Given the description of an element on the screen output the (x, y) to click on. 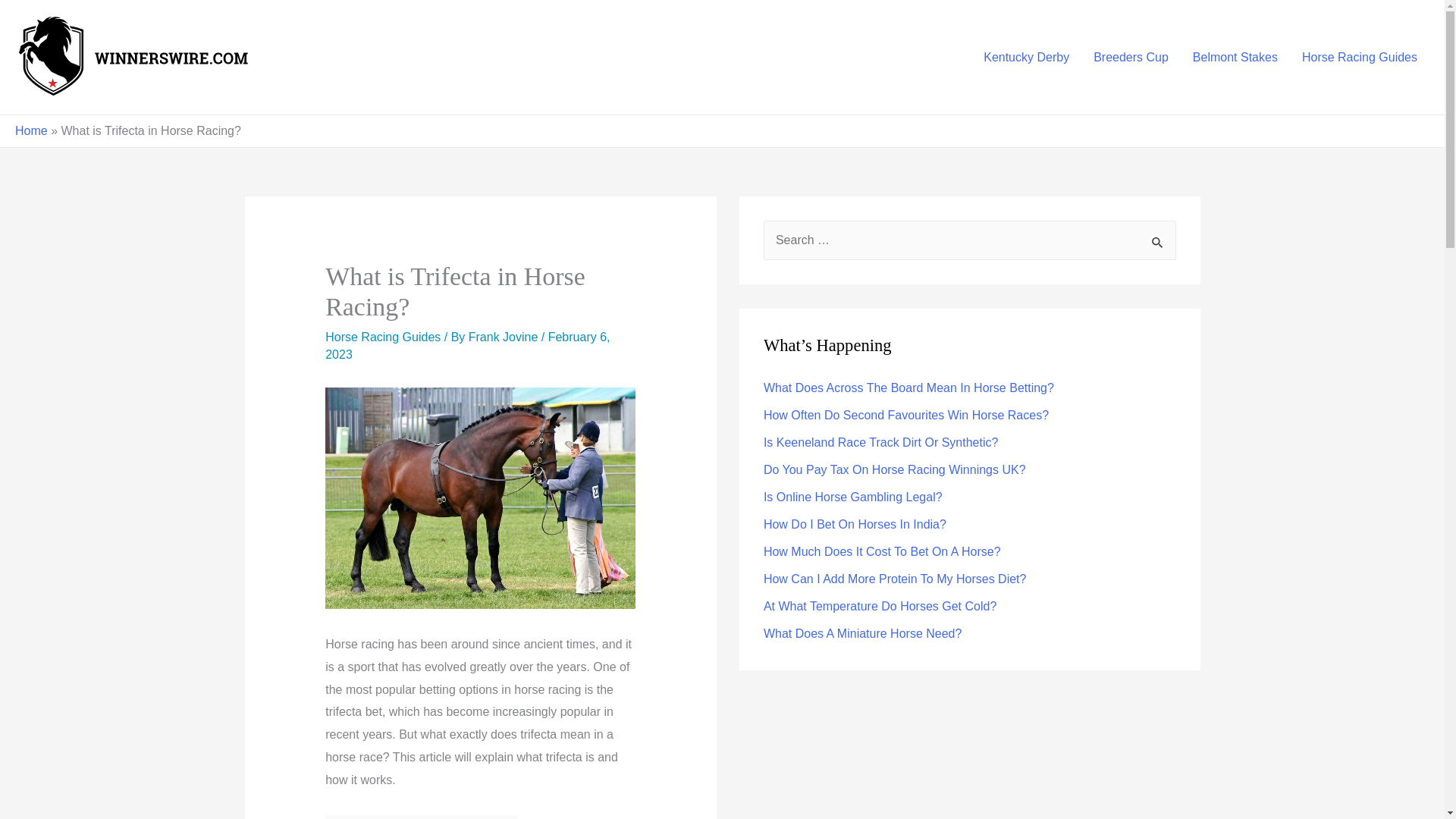
Belmont Stakes (1235, 56)
Horse Racing Guides (382, 336)
View all posts by Frank Jovine (504, 336)
Home (31, 130)
Frank Jovine (504, 336)
Horse Racing Guides (1359, 56)
Kentucky Derby (1026, 56)
Breeders Cup (1130, 56)
